Given the description of an element on the screen output the (x, y) to click on. 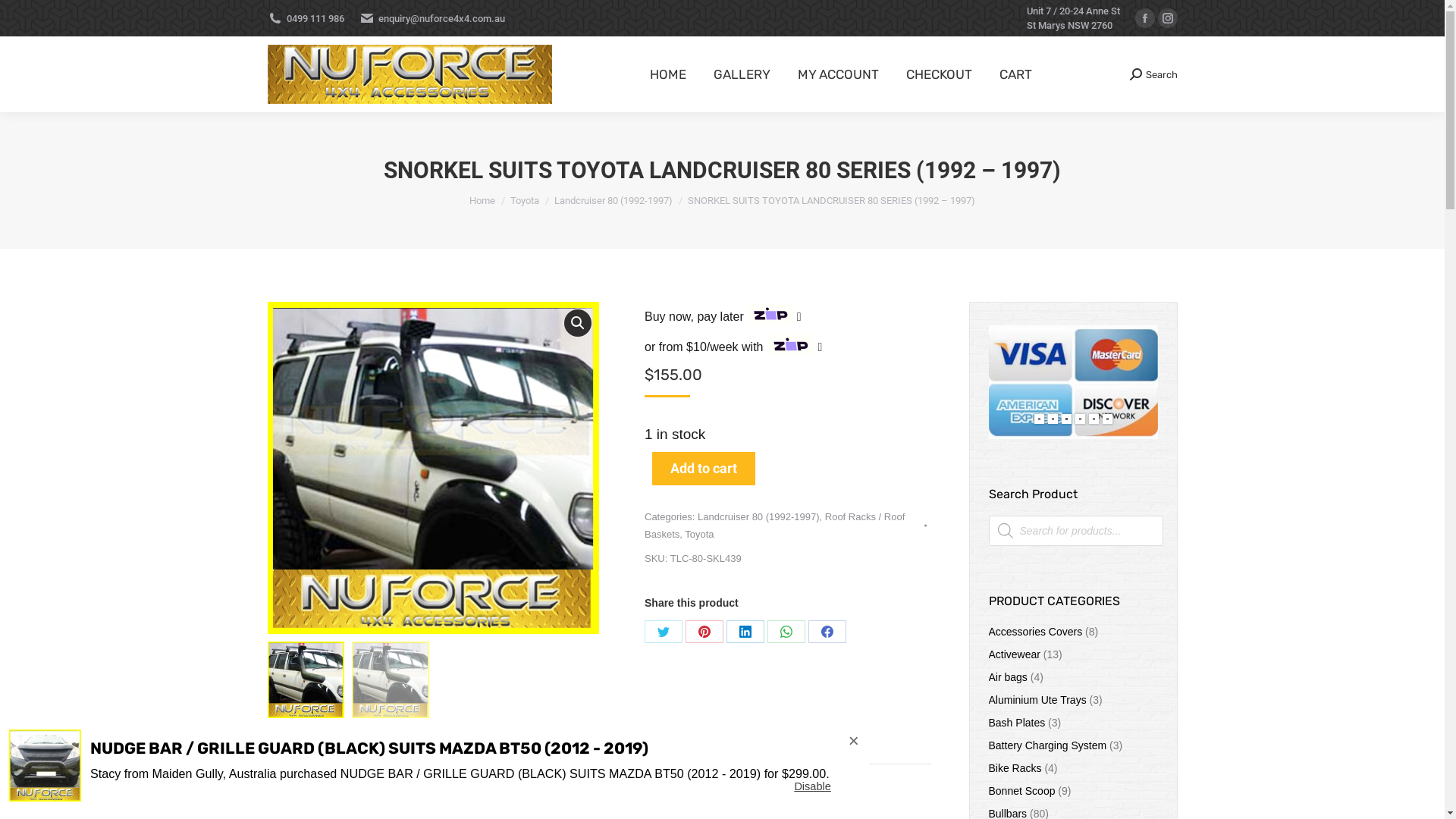
Go! Element type: text (23, 16)
images Element type: hover (432, 467)
Home Element type: text (482, 200)
Share on Facebook Element type: text (827, 631)
Instagram page opens in new window Element type: text (1166, 18)
Share on WhatsApp Element type: text (786, 631)
Roof Racks / Roof Baskets Element type: text (774, 525)
HOME Element type: text (667, 74)
MY ACCOUNT Element type: text (837, 74)
Landcruiser 80 (1992-1997) Element type: text (613, 200)
Bash Plates Element type: text (1016, 722)
Add to cart Element type: text (703, 468)
CHECKOUT Element type: text (938, 74)
Battery Charging System Element type: text (1047, 745)
Share on Pinterest Element type: text (704, 631)
Accessories Covers Element type: text (1035, 631)
Air bags Element type: text (1007, 677)
Landcruiser 80 (1992-1997) Element type: text (758, 516)
Share on Twitter Element type: text (663, 631)
GALLERY Element type: text (740, 74)
Reviews (0) Element type: text (576, 789)
Description Element type: text (302, 789)
Aluminium Ute Trays Element type: text (1037, 699)
Search Element type: text (1153, 74)
Share on LinkedIn Element type: text (745, 631)
Toyota Element type: text (698, 533)
Toyota Element type: text (524, 200)
Activewear Element type: text (1014, 654)
Bonnet Scoop Element type: text (1021, 790)
Bike Racks Element type: text (1014, 768)
Facebook page opens in new window Element type: text (1144, 18)
Additional information Element type: text (439, 789)
CART Element type: text (1015, 74)
